Given the description of an element on the screen output the (x, y) to click on. 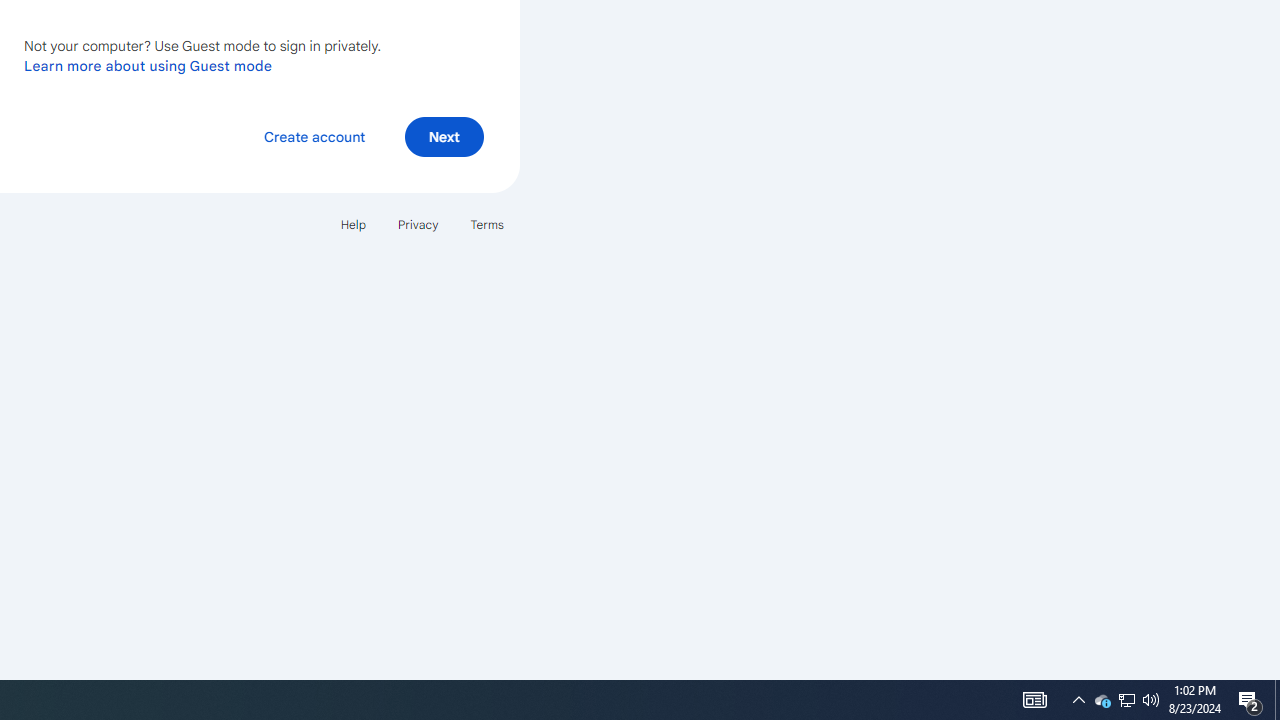
Privacy (417, 224)
Help (352, 224)
Next (443, 135)
Learn more about using Guest mode (148, 65)
Terms (486, 224)
Create account (314, 135)
